Given the description of an element on the screen output the (x, y) to click on. 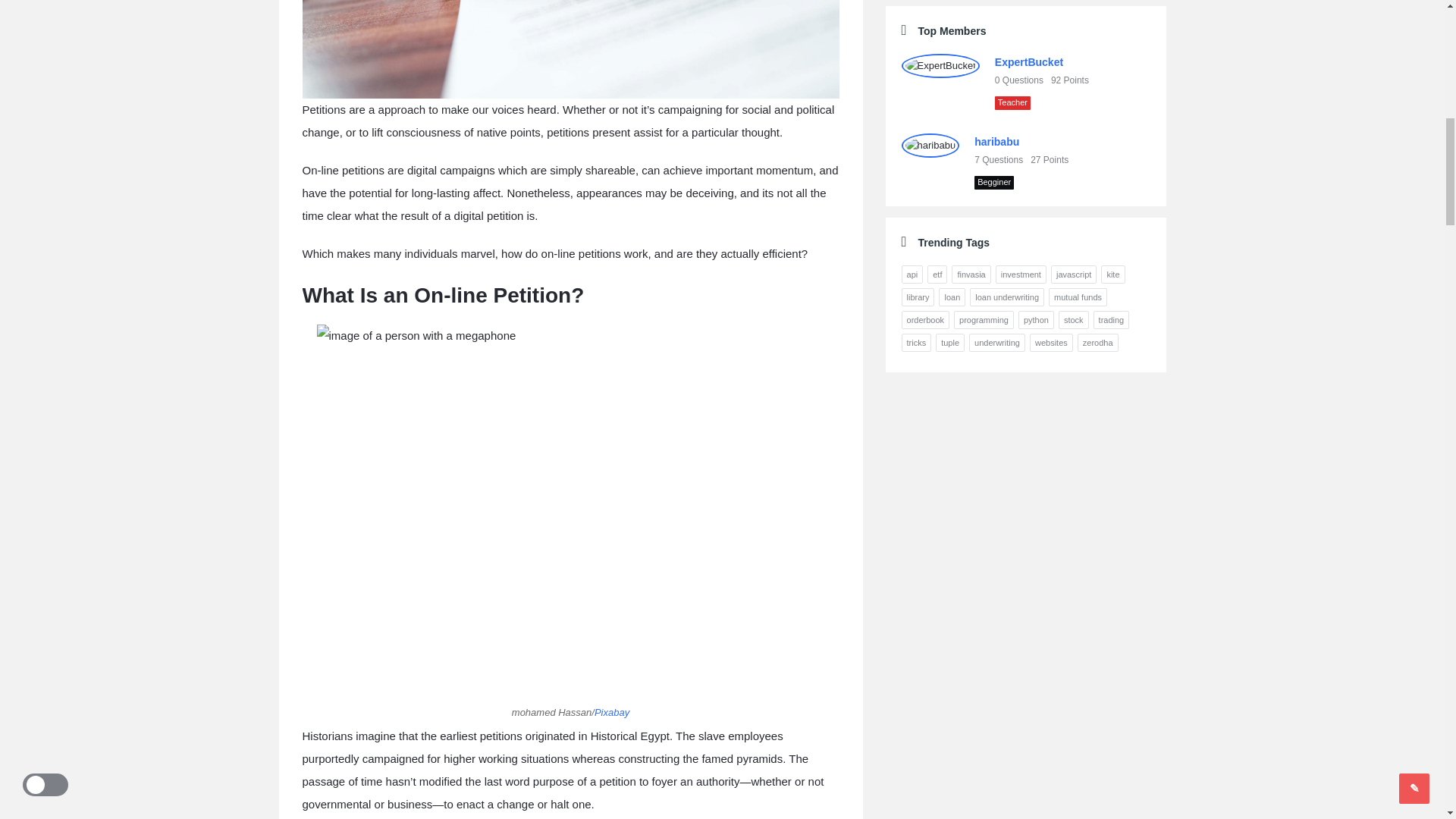
Pixabay (611, 712)
